Given the description of an element on the screen output the (x, y) to click on. 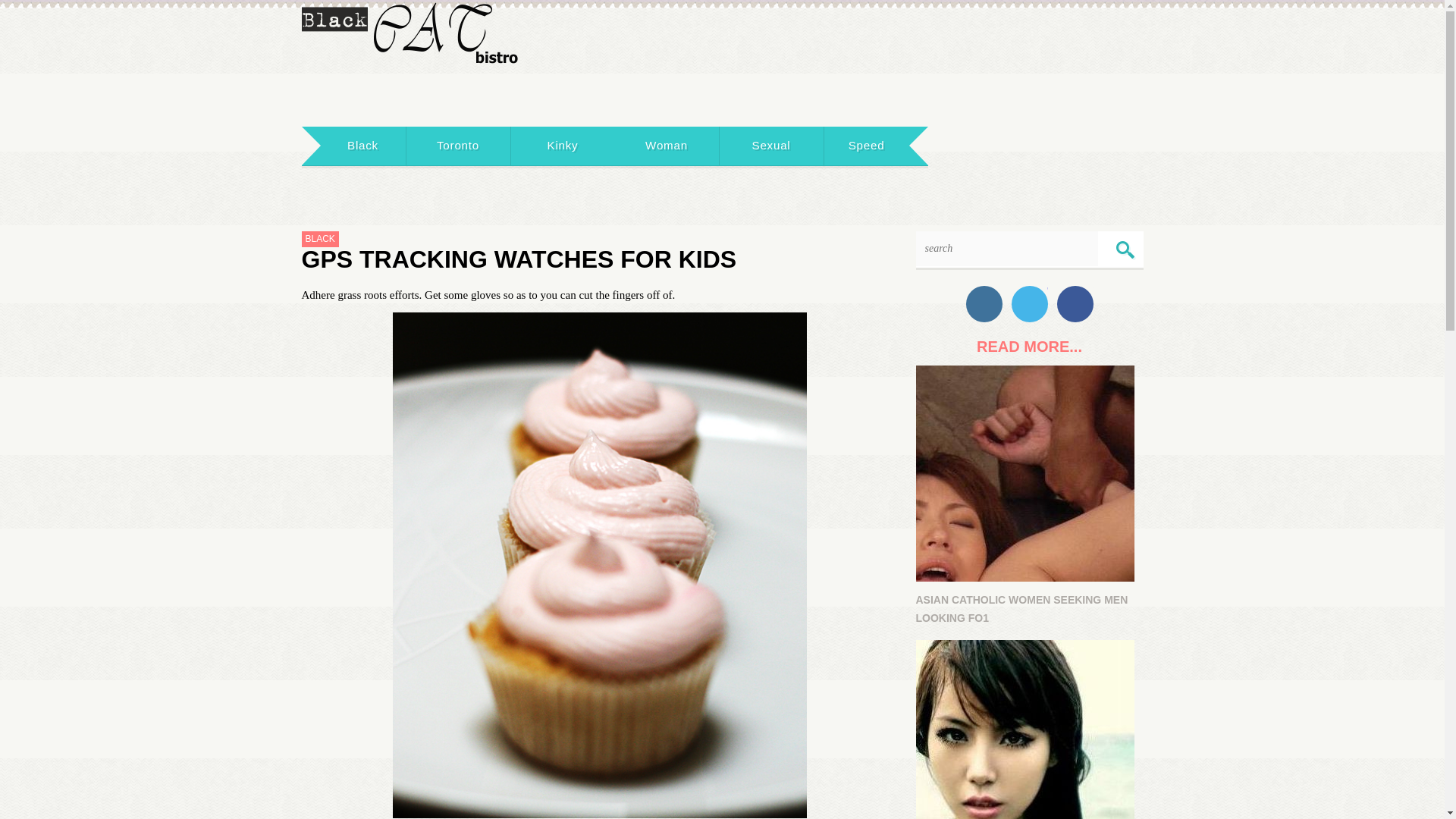
Toronto (458, 145)
search (1125, 250)
Black (363, 145)
Twitter (1029, 303)
Instagram (984, 303)
Asian Catholic Women Seeking Men Looking Fo1 (1024, 473)
BLACK (320, 238)
Woman (666, 145)
CUBE HAMBURG GAY (1028, 729)
Cube Hamburg Gay (1024, 729)
